Given the description of an element on the screen output the (x, y) to click on. 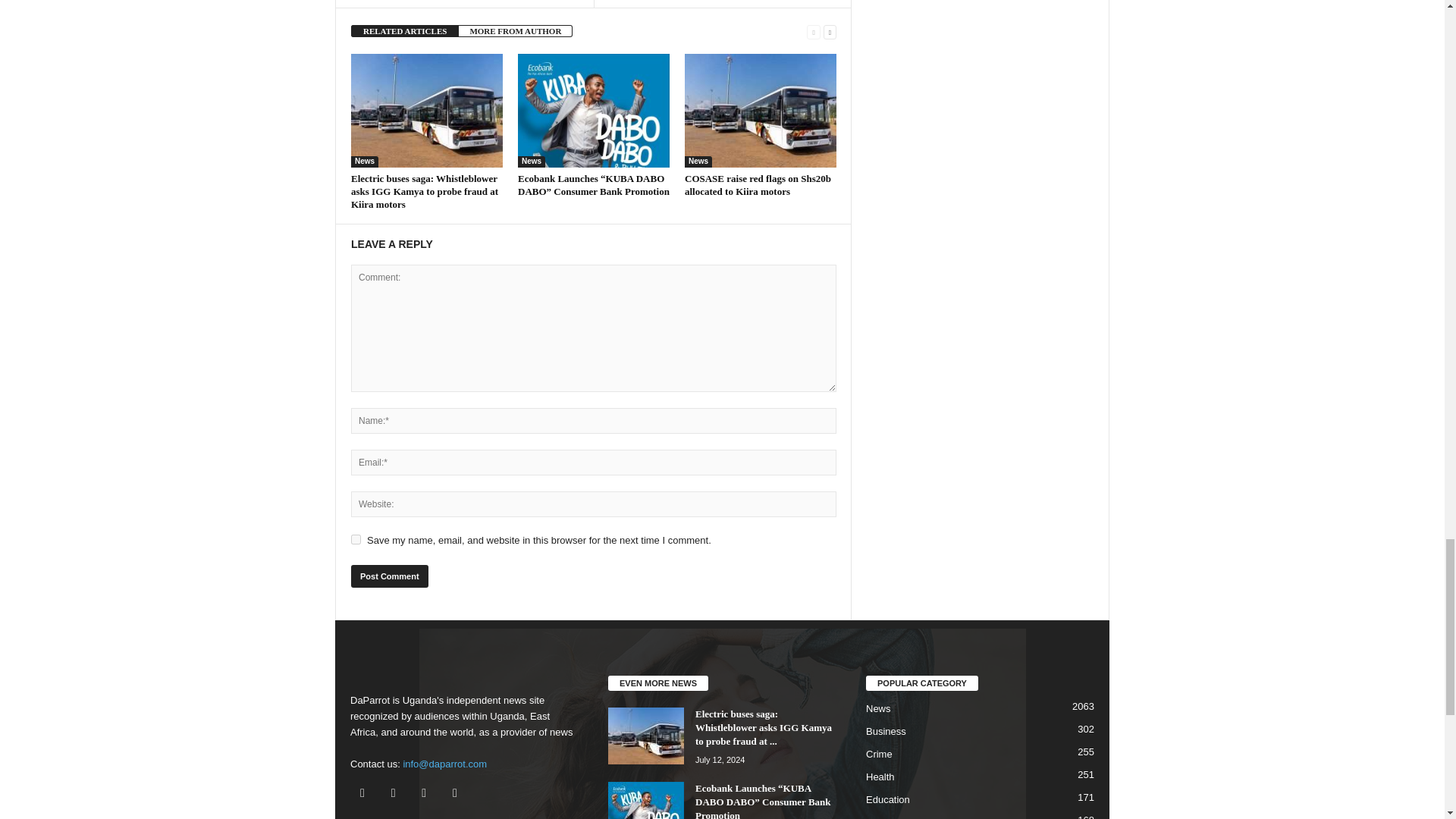
Post Comment (389, 576)
yes (355, 539)
